Given the description of an element on the screen output the (x, y) to click on. 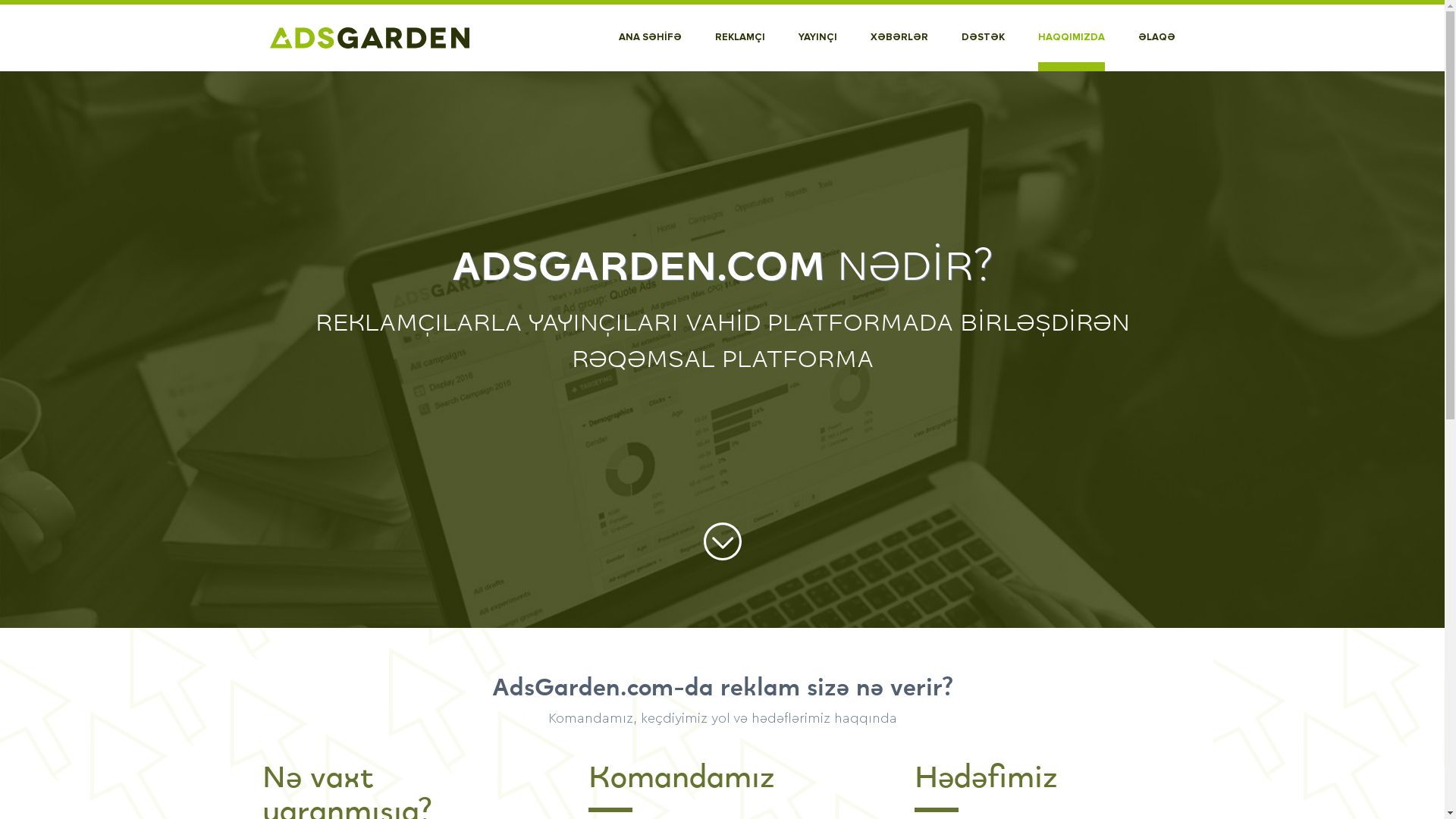
HAQQIMIZDA Element type: text (1070, 37)
